Given the description of an element on the screen output the (x, y) to click on. 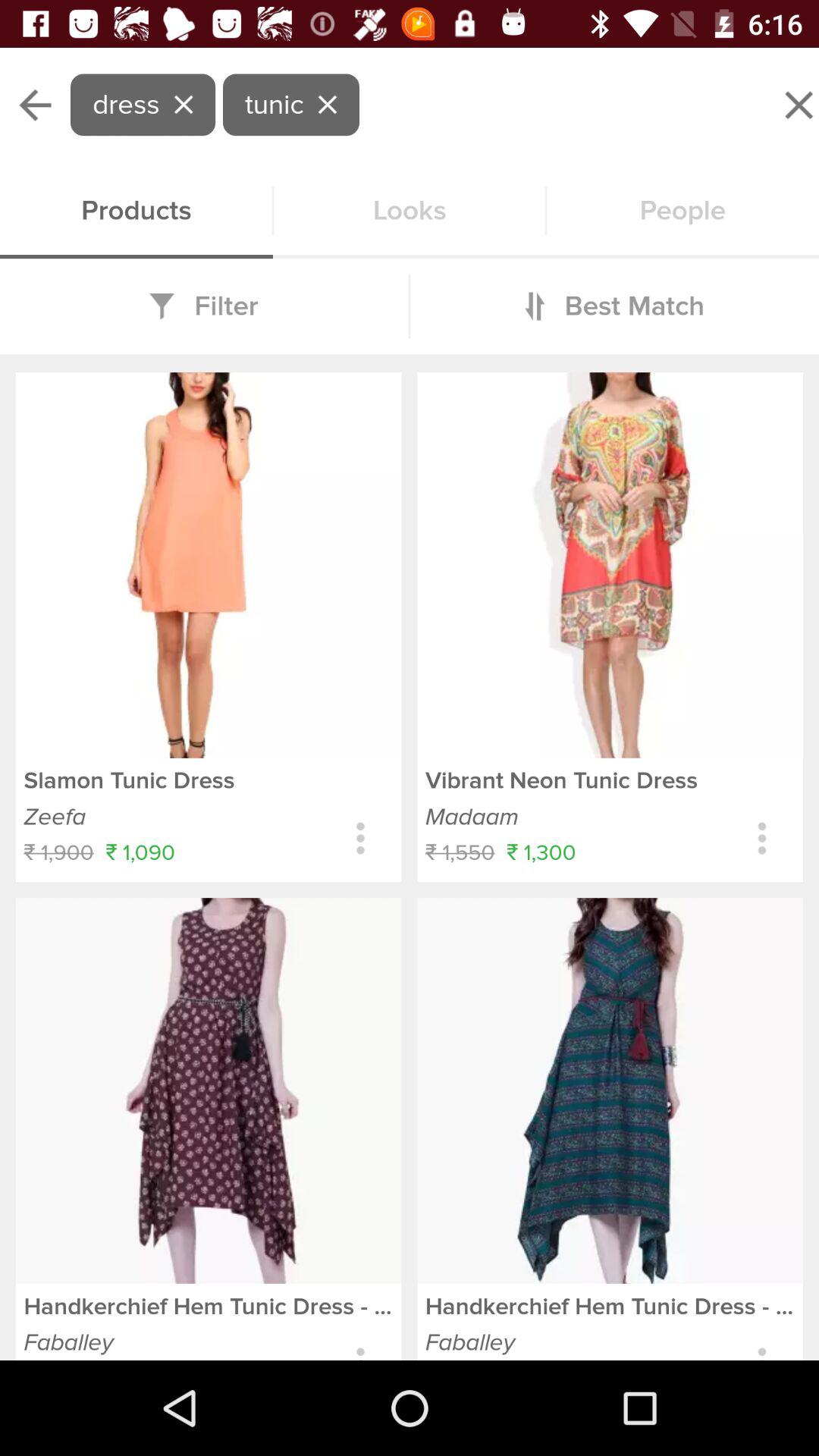
choose options (360, 838)
